Given the description of an element on the screen output the (x, y) to click on. 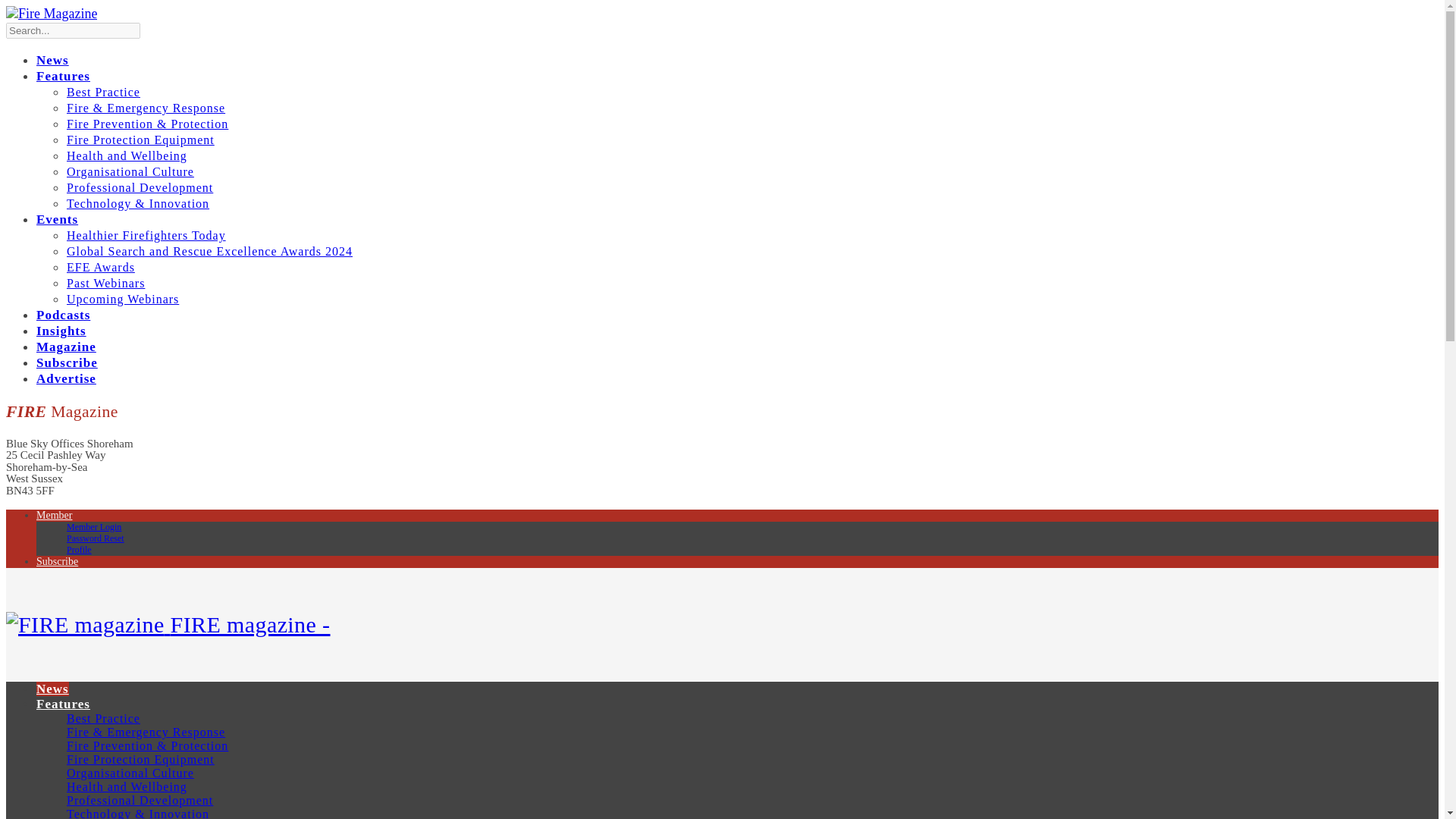
Best Practice (102, 91)
Professional Development (139, 799)
Organisational Culture (129, 171)
Upcoming Webinars (122, 298)
Password Reset (94, 538)
Profile (78, 549)
Subscribe (66, 362)
Insights (60, 330)
FIRE magazine - (167, 624)
Subscribe (57, 561)
